Given the description of an element on the screen output the (x, y) to click on. 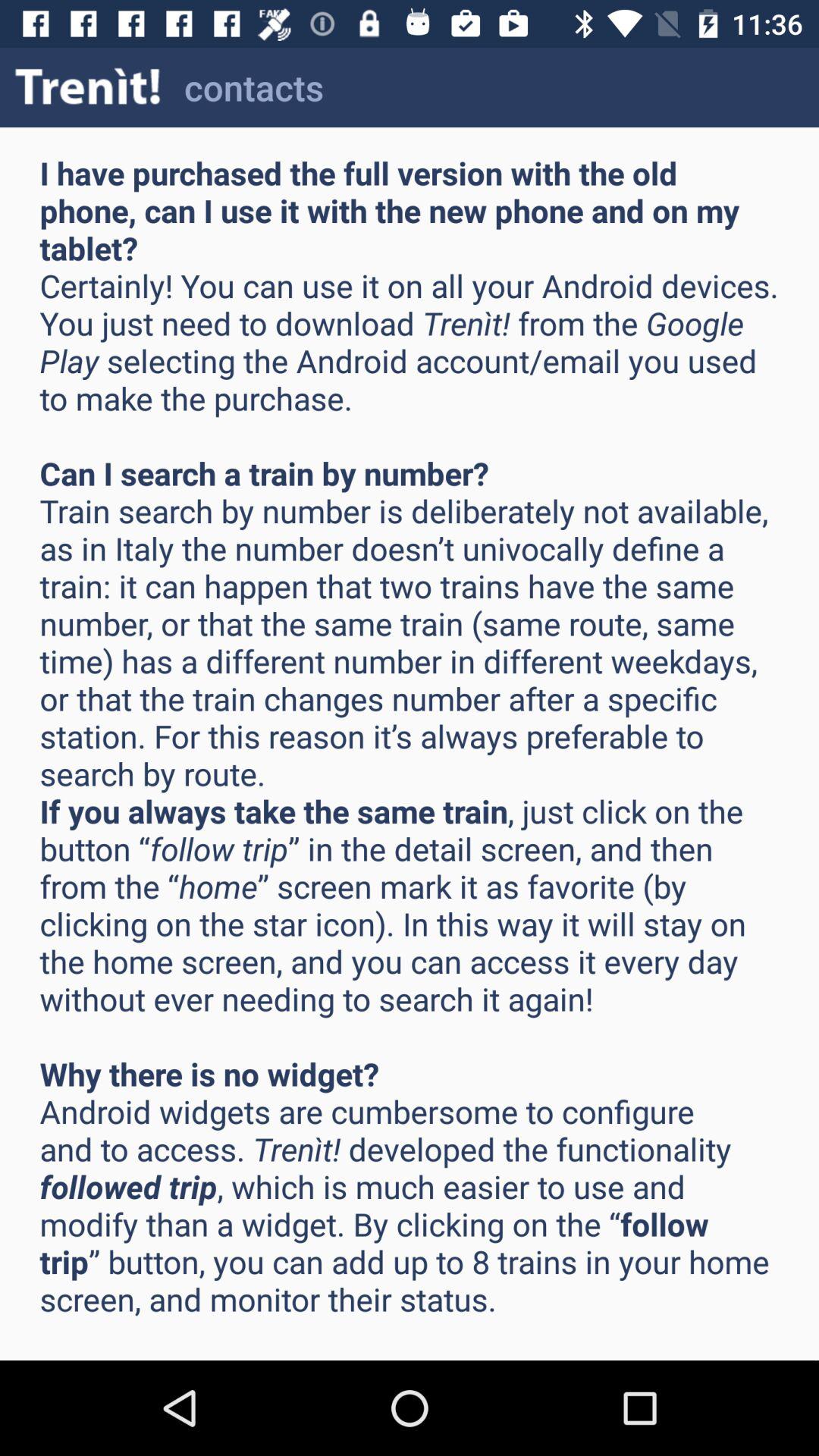
launch icon above f a q (88, 87)
